Given the description of an element on the screen output the (x, y) to click on. 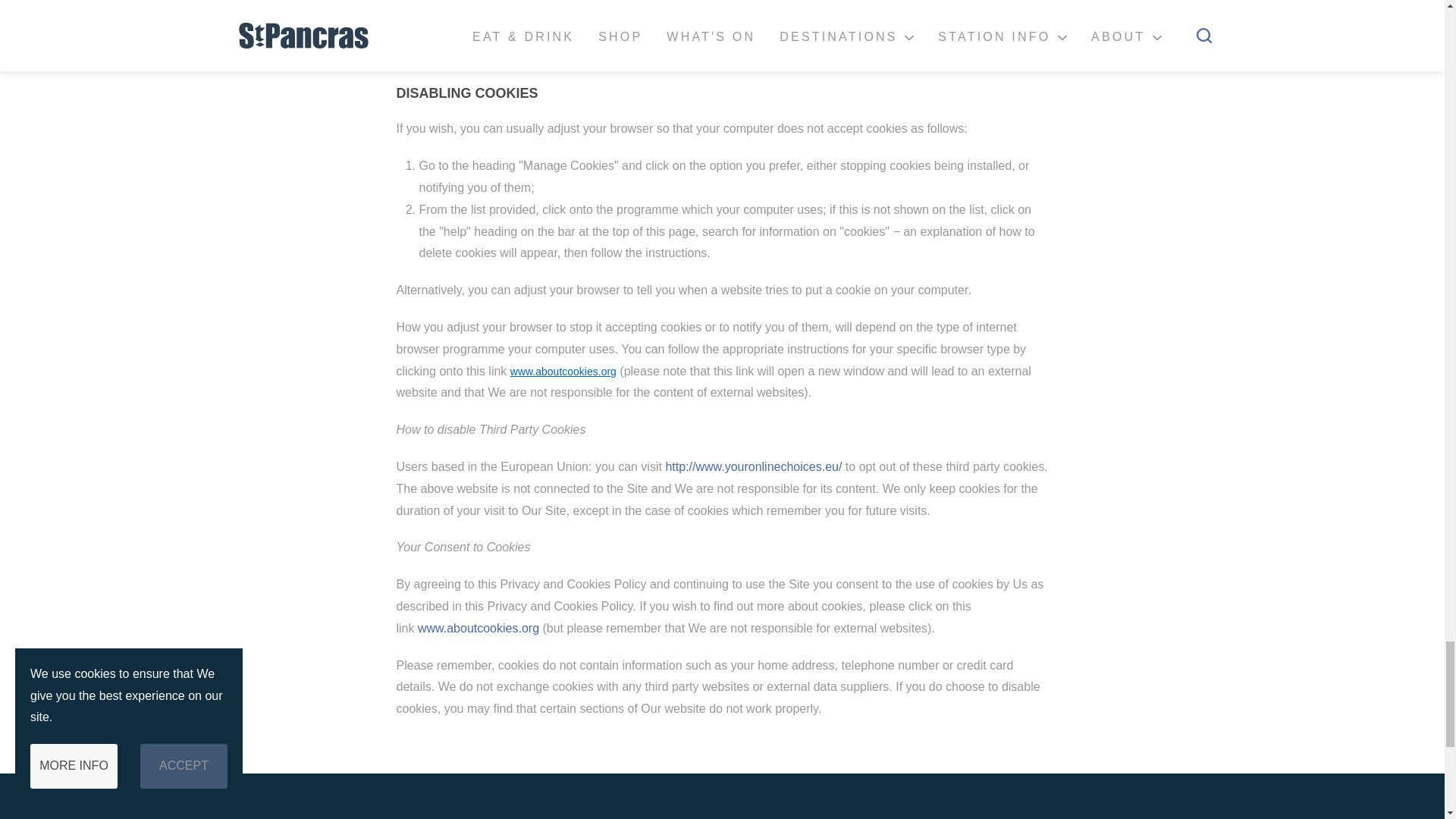
www.aboutcookies.org (563, 371)
www.aboutcookies.org (477, 627)
